Given the description of an element on the screen output the (x, y) to click on. 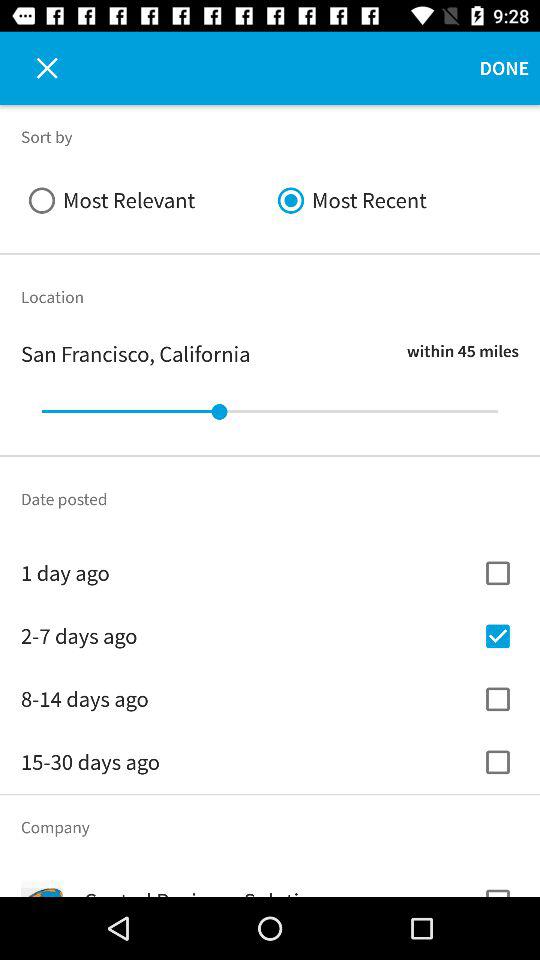
choose the most relevant icon (145, 200)
